Given the description of an element on the screen output the (x, y) to click on. 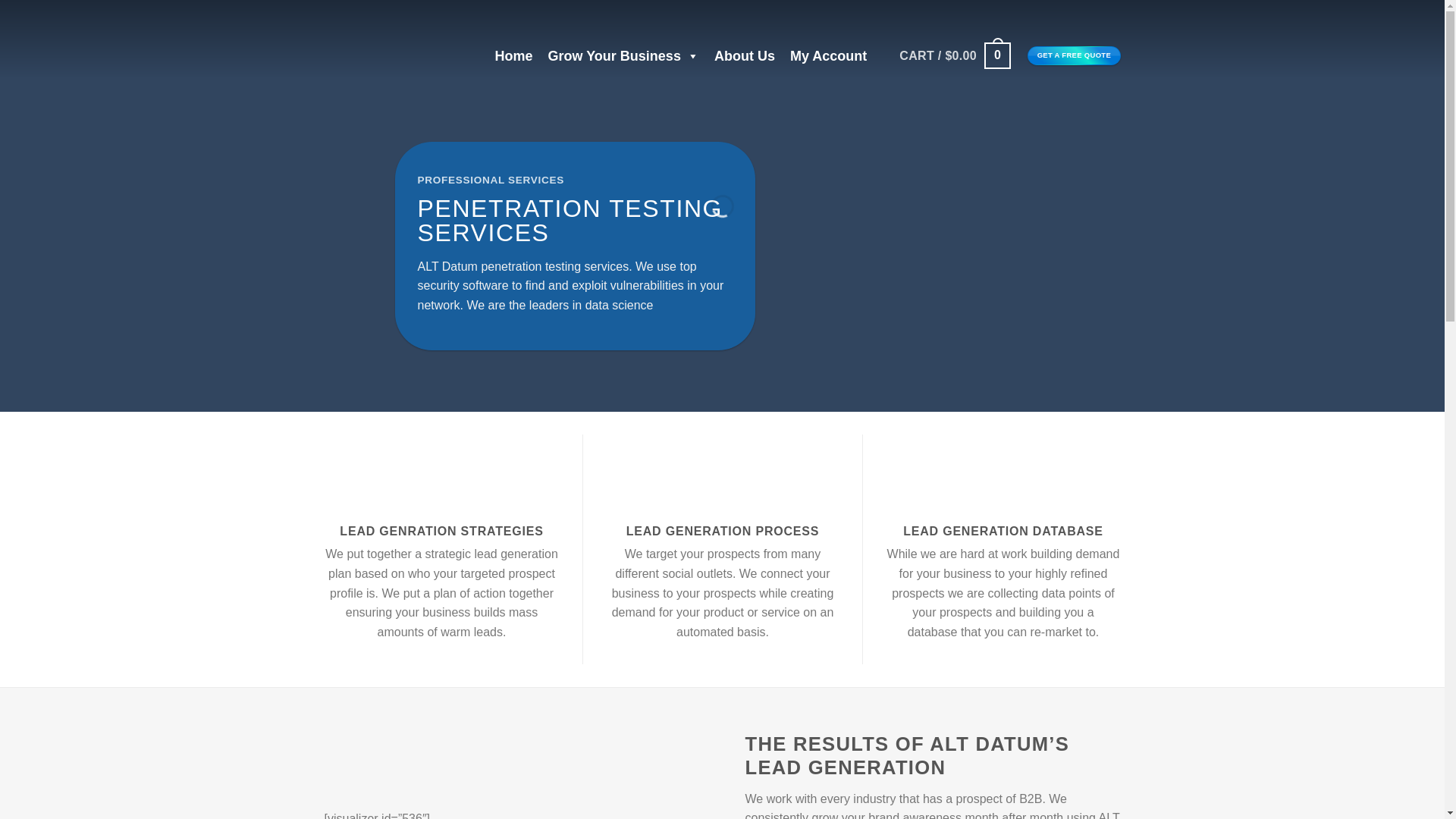
GET A FREE QUOTE (1073, 55)
Cart (954, 55)
Grow Your Business (623, 55)
Home (513, 55)
My Account (829, 55)
About Us (744, 55)
